Given the description of an element on the screen output the (x, y) to click on. 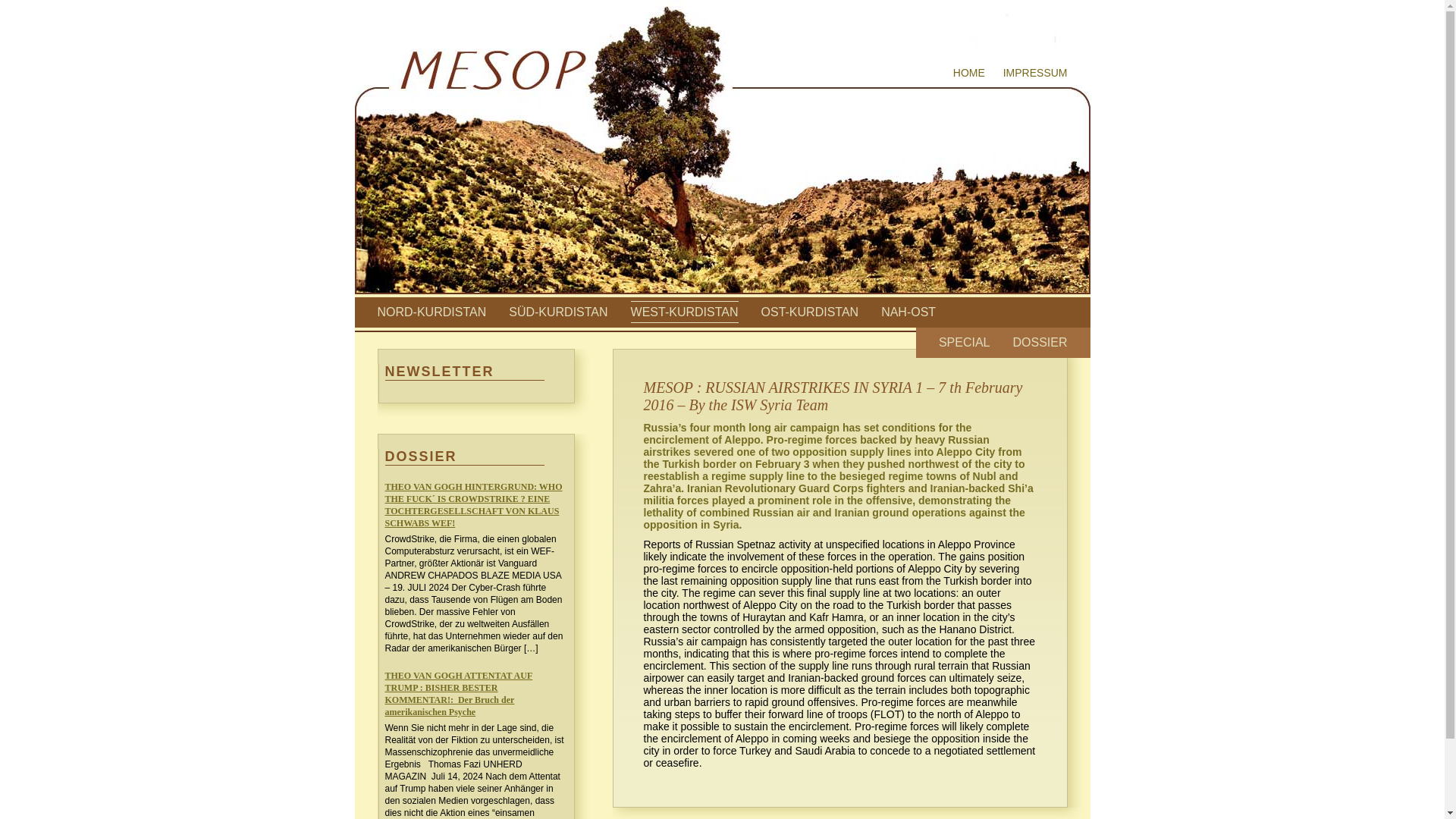
IMPRESSUM (1035, 72)
DOSSIER (1039, 341)
HOME (969, 72)
SPECIAL (964, 341)
NAH-OST (908, 311)
OST-KURDISTAN (810, 311)
NORD-KURDISTAN (431, 311)
WEST-KURDISTAN (684, 311)
